Given the description of an element on the screen output the (x, y) to click on. 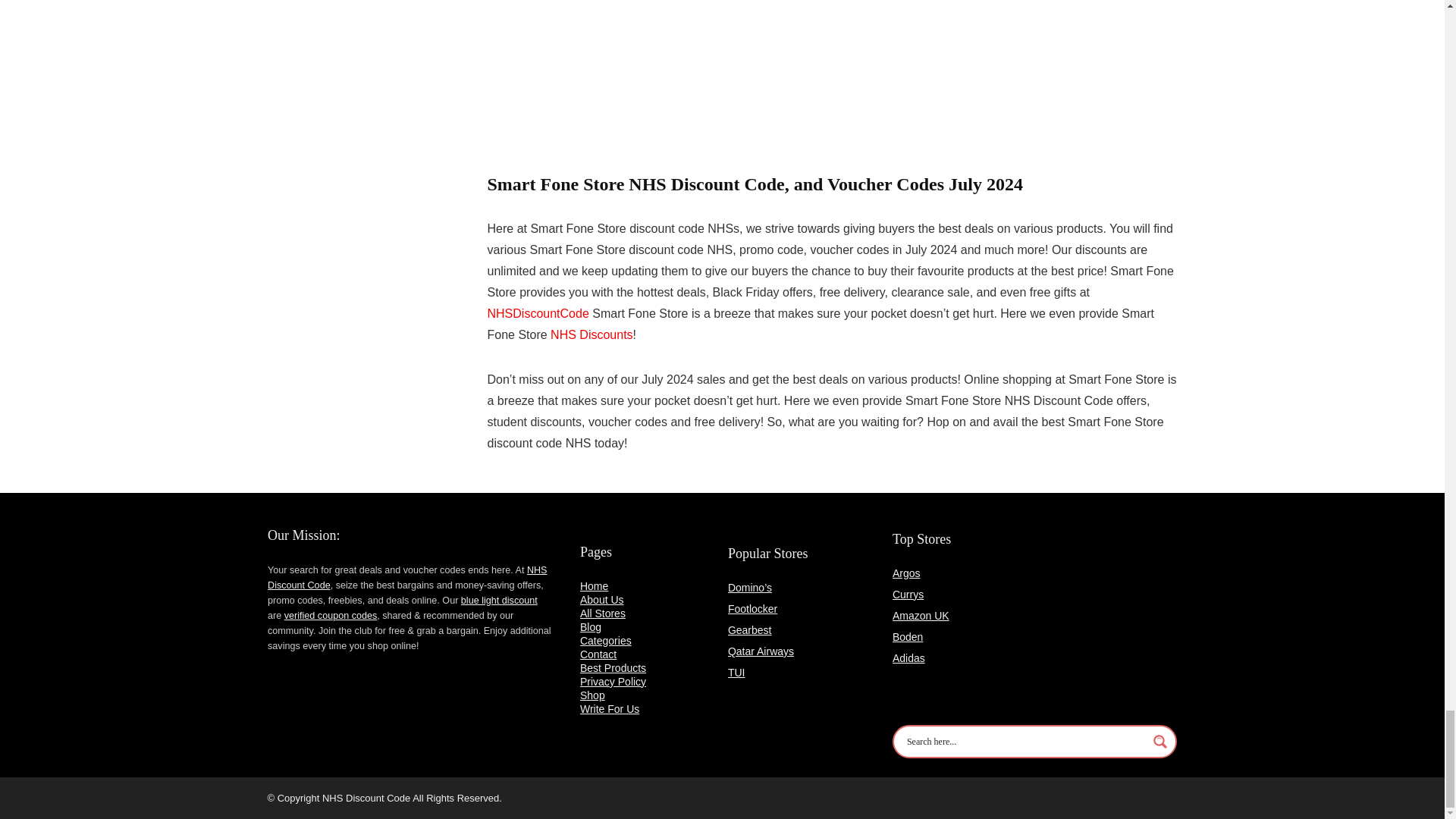
YouTube video player (698, 79)
